Given the description of an element on the screen output the (x, y) to click on. 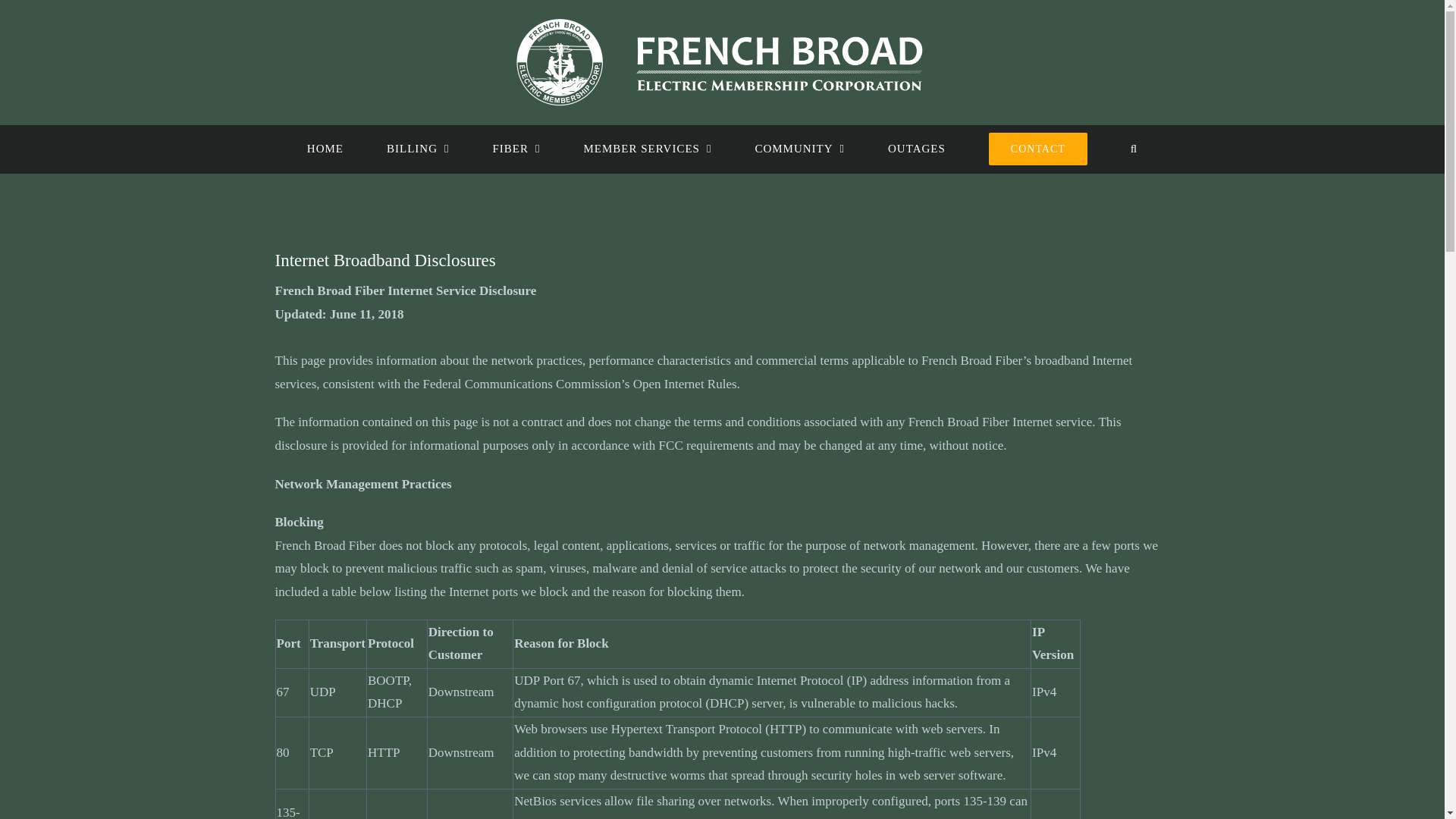
FIBER (516, 147)
COMMUNITY (799, 147)
BILLING (417, 147)
OUTAGES (916, 147)
MEMBER SERVICES (647, 147)
CONTACT (1037, 147)
